Given the description of an element on the screen output the (x, y) to click on. 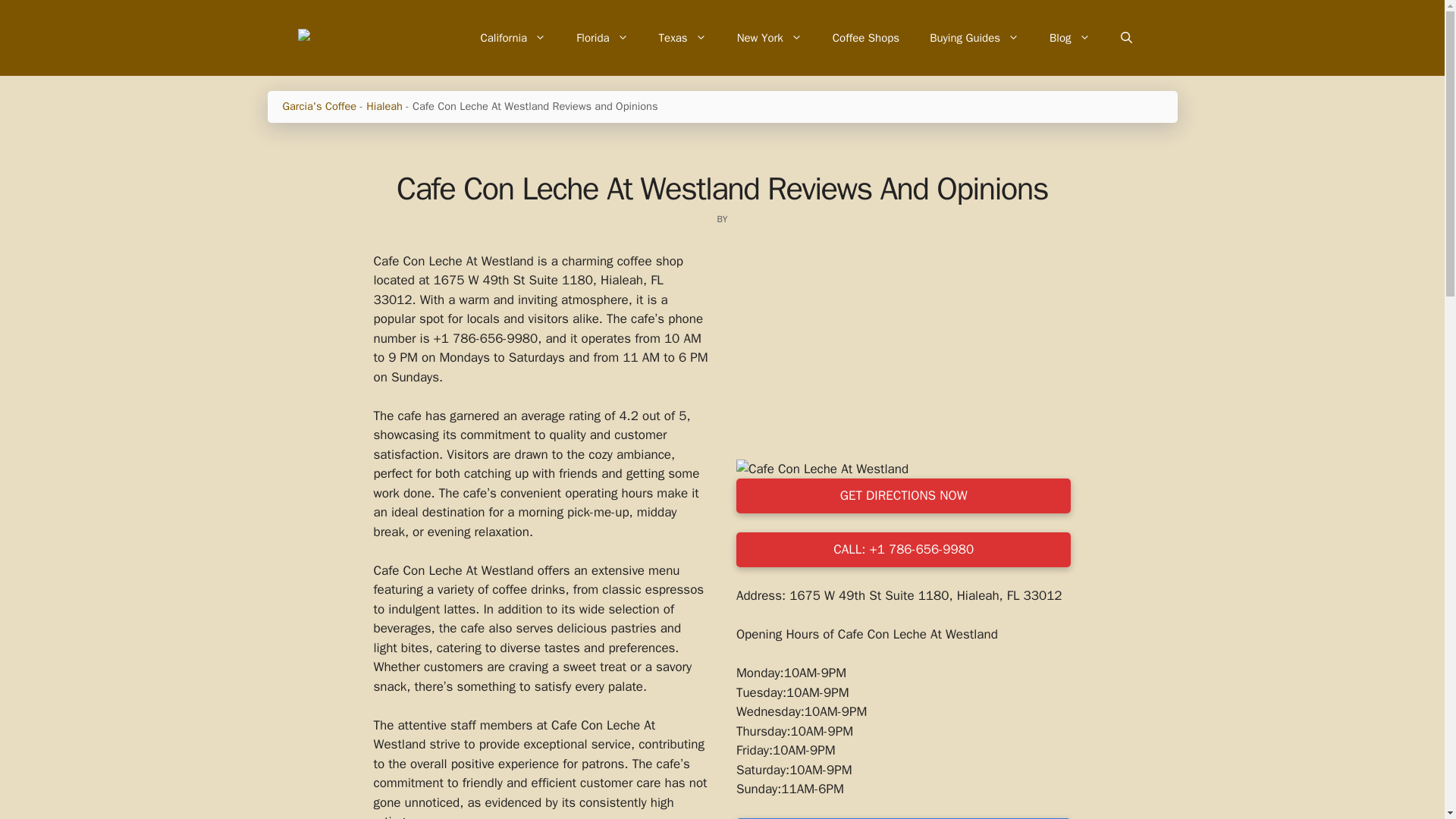
Florida (601, 37)
Blog (1069, 37)
Cafe Con Leche At Westland (822, 469)
Buying Guides (973, 37)
Texas (682, 37)
Coffee Shops (865, 37)
California (512, 37)
New York (769, 37)
